Given the description of an element on the screen output the (x, y) to click on. 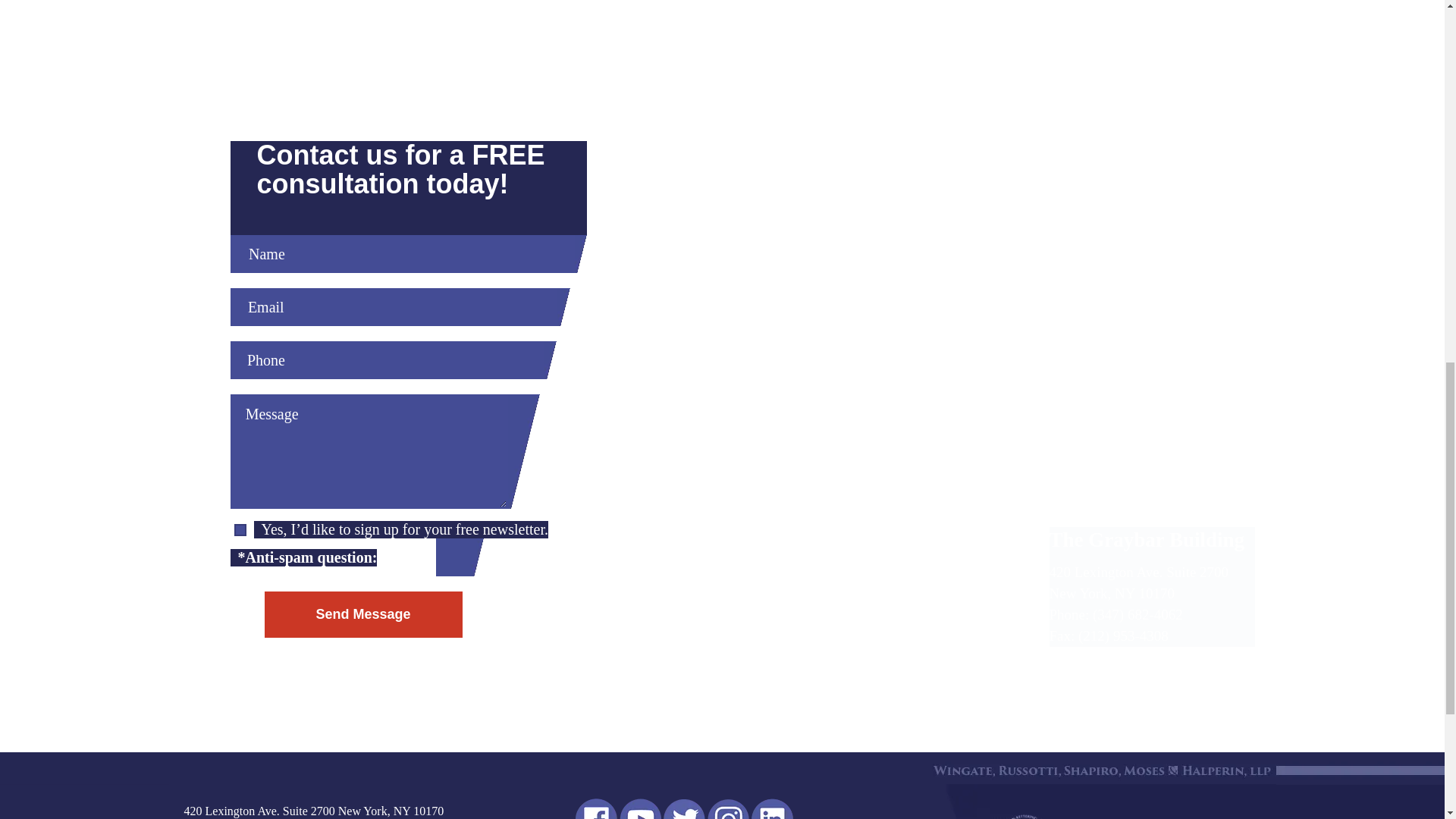
Send Message (362, 614)
Name (402, 253)
yes (239, 530)
Phone (387, 360)
Email (393, 306)
